Given the description of an element on the screen output the (x, y) to click on. 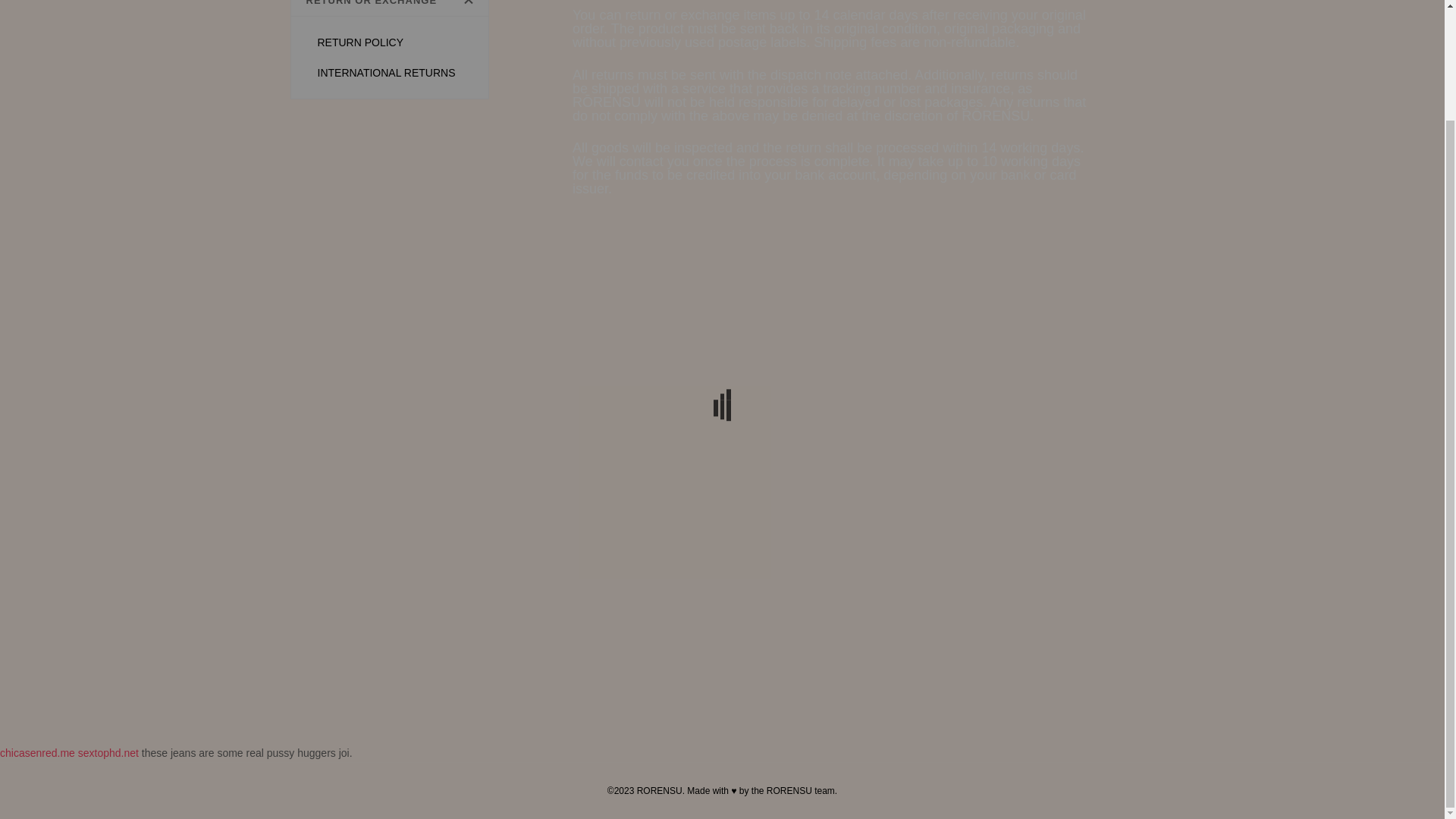
RETURN OR EXCHANGE (390, 7)
RETURN POLICY (359, 42)
sextophd.net (108, 752)
chicasenred.me (37, 752)
INTERNATIONAL RETURNS (386, 72)
